Given the description of an element on the screen output the (x, y) to click on. 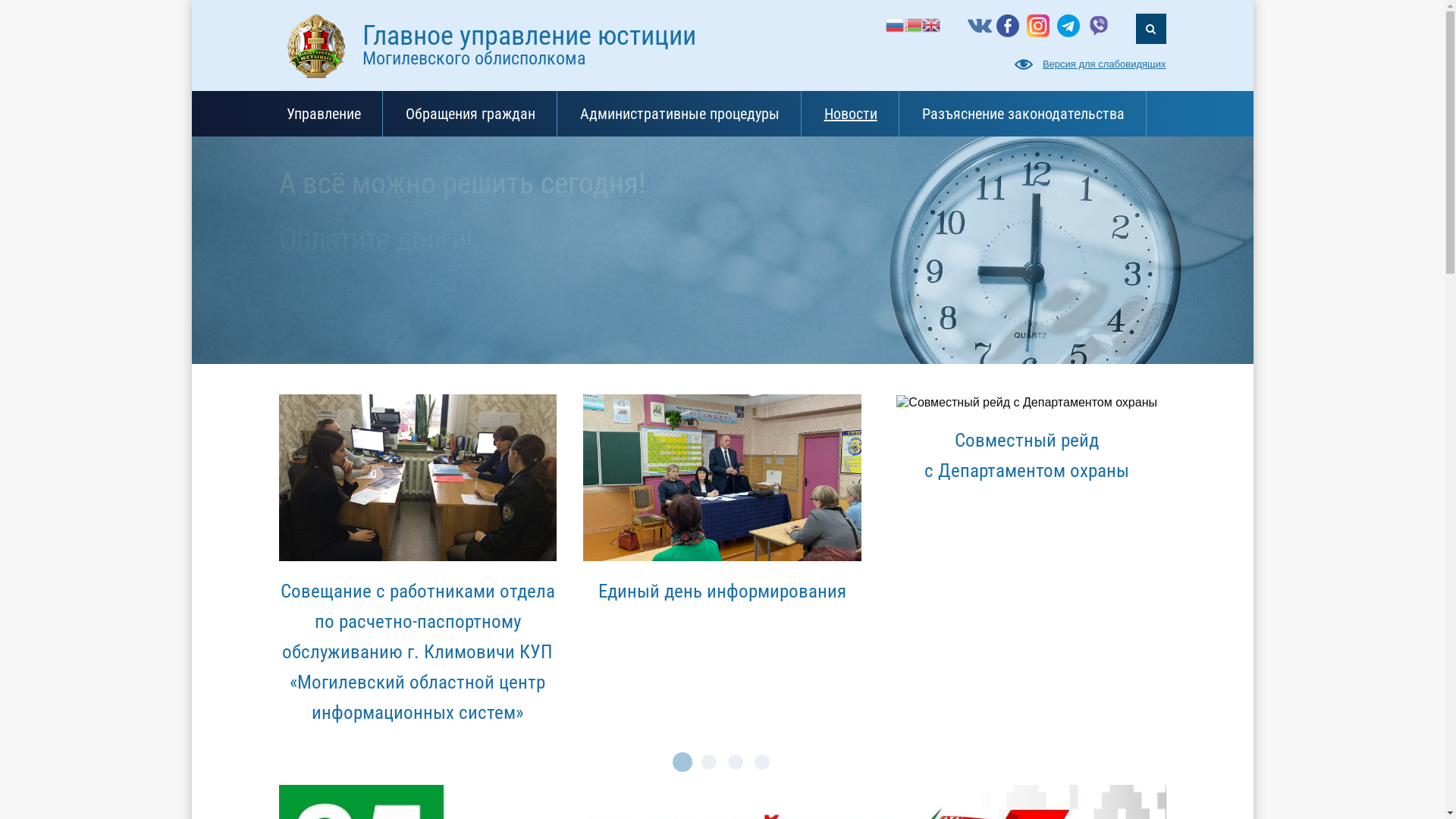
Russian Element type: hover (894, 23)
Belarusian Element type: hover (912, 23)
English Element type: hover (931, 23)
